Given the description of an element on the screen output the (x, y) to click on. 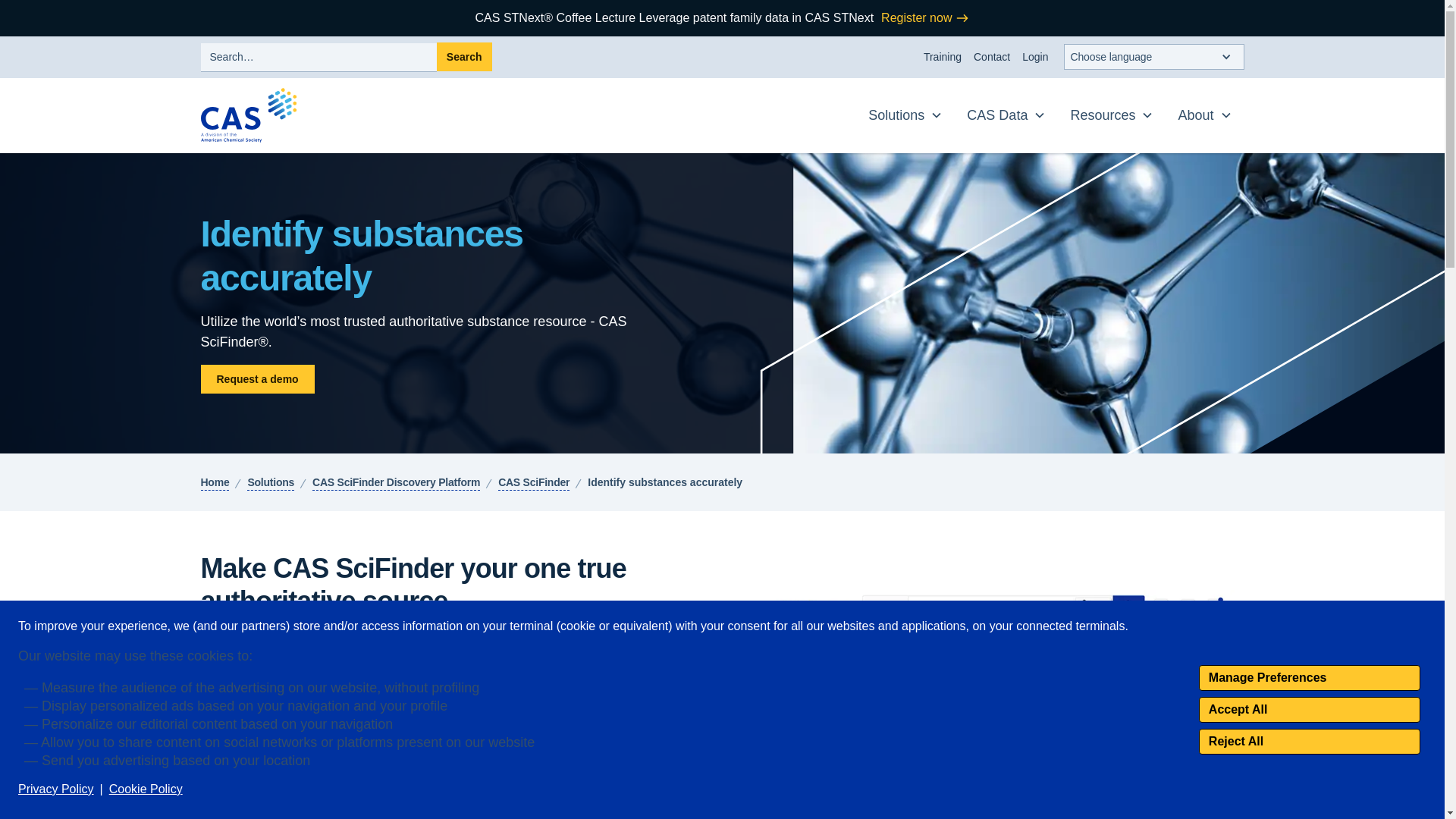
Login (1035, 57)
Privacy Policy (55, 789)
Contact (992, 57)
Manage Preferences (1309, 678)
Training (942, 57)
Register now (924, 18)
Search (464, 56)
Reject All (1309, 741)
Search (464, 56)
Cookie Policy (146, 789)
Accept All (1309, 709)
Search (464, 56)
